Given the description of an element on the screen output the (x, y) to click on. 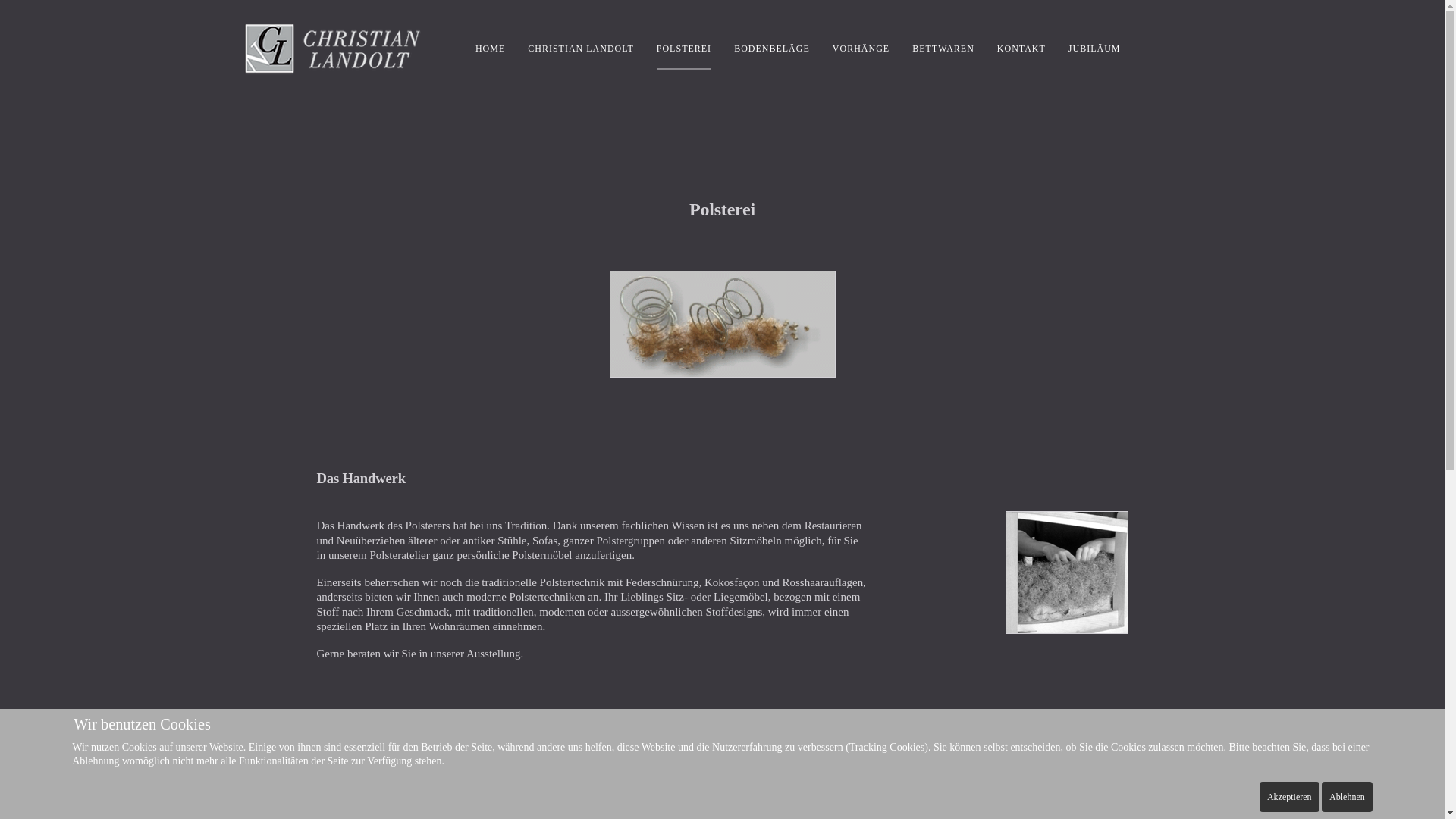
CHRISTIAN LANDOLT Element type: text (580, 47)
Akzeptieren Element type: text (1289, 796)
POLSTEREI Element type: text (683, 47)
Ablehnen Element type: text (1346, 796)
BETTWAREN Element type: text (943, 47)
HOME Element type: text (490, 47)
KONTAKT Element type: text (1021, 47)
